Given the description of an element on the screen output the (x, y) to click on. 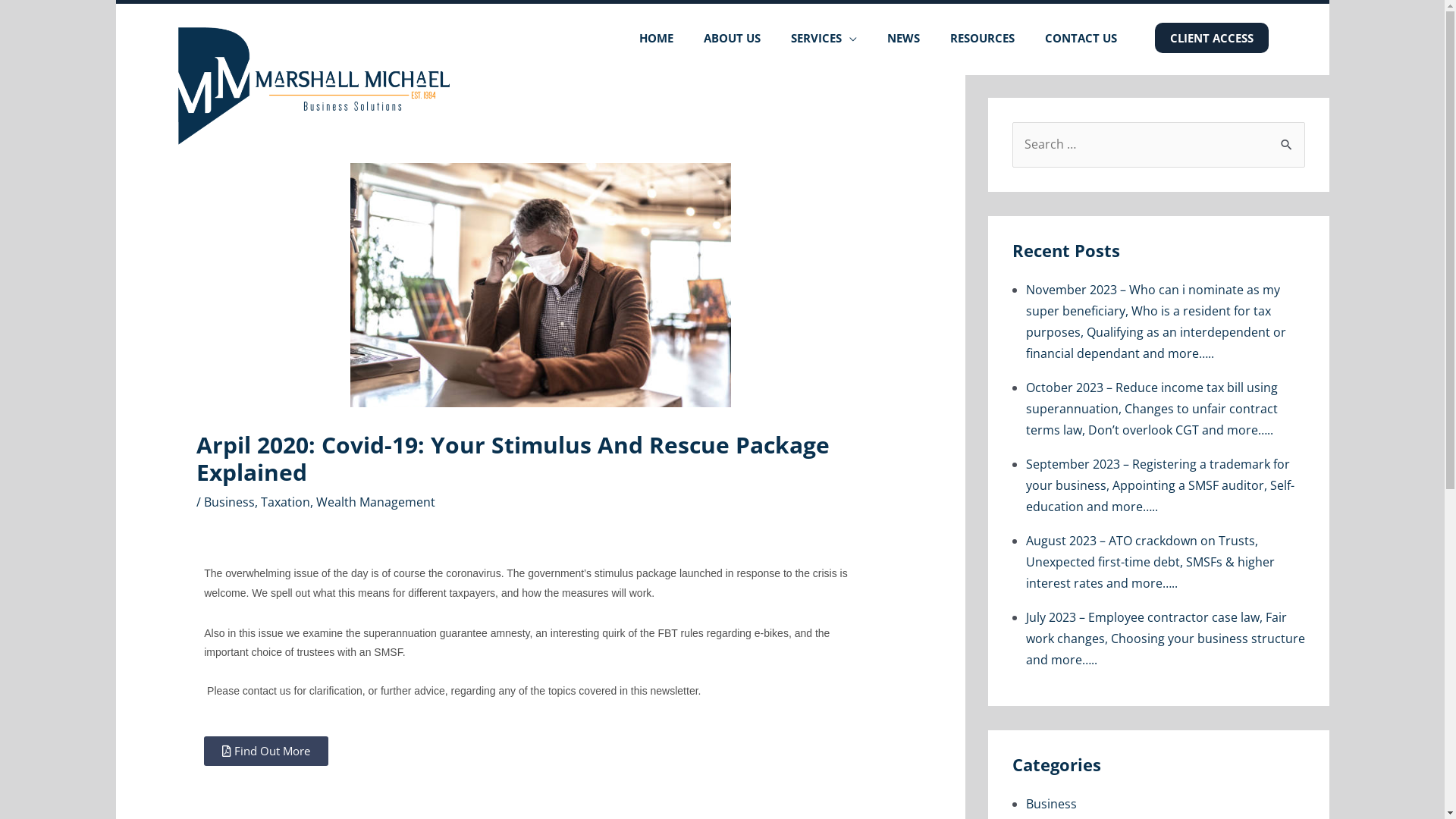
NEWS Element type: text (903, 37)
SERVICES Element type: text (823, 37)
Find Out More Element type: text (265, 750)
HOME Element type: text (655, 37)
Wealth Management Element type: text (375, 501)
RESOURCES Element type: text (981, 37)
ABOUT US Element type: text (731, 37)
Business Element type: text (228, 501)
Search Element type: text (1287, 143)
CONTACT US Element type: text (1080, 37)
Taxation Element type: text (285, 501)
Business Element type: text (1164, 803)
CLIENT ACCESS Element type: text (1210, 37)
